Given the description of an element on the screen output the (x, y) to click on. 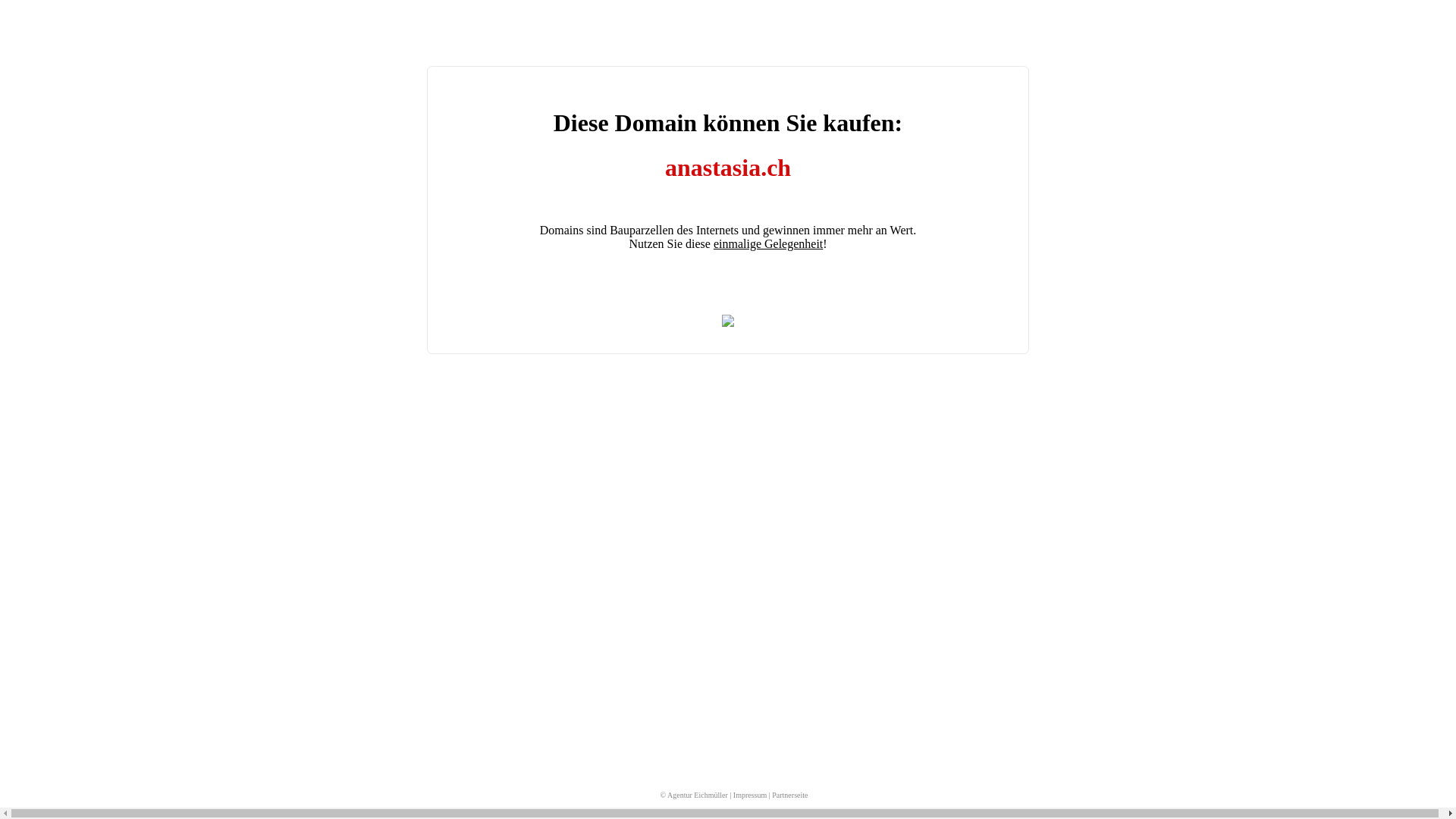
Impressum Element type: text (749, 794)
Partnerseite Element type: text (789, 794)
anastasia.ch Element type: text (727, 167)
